Given the description of an element on the screen output the (x, y) to click on. 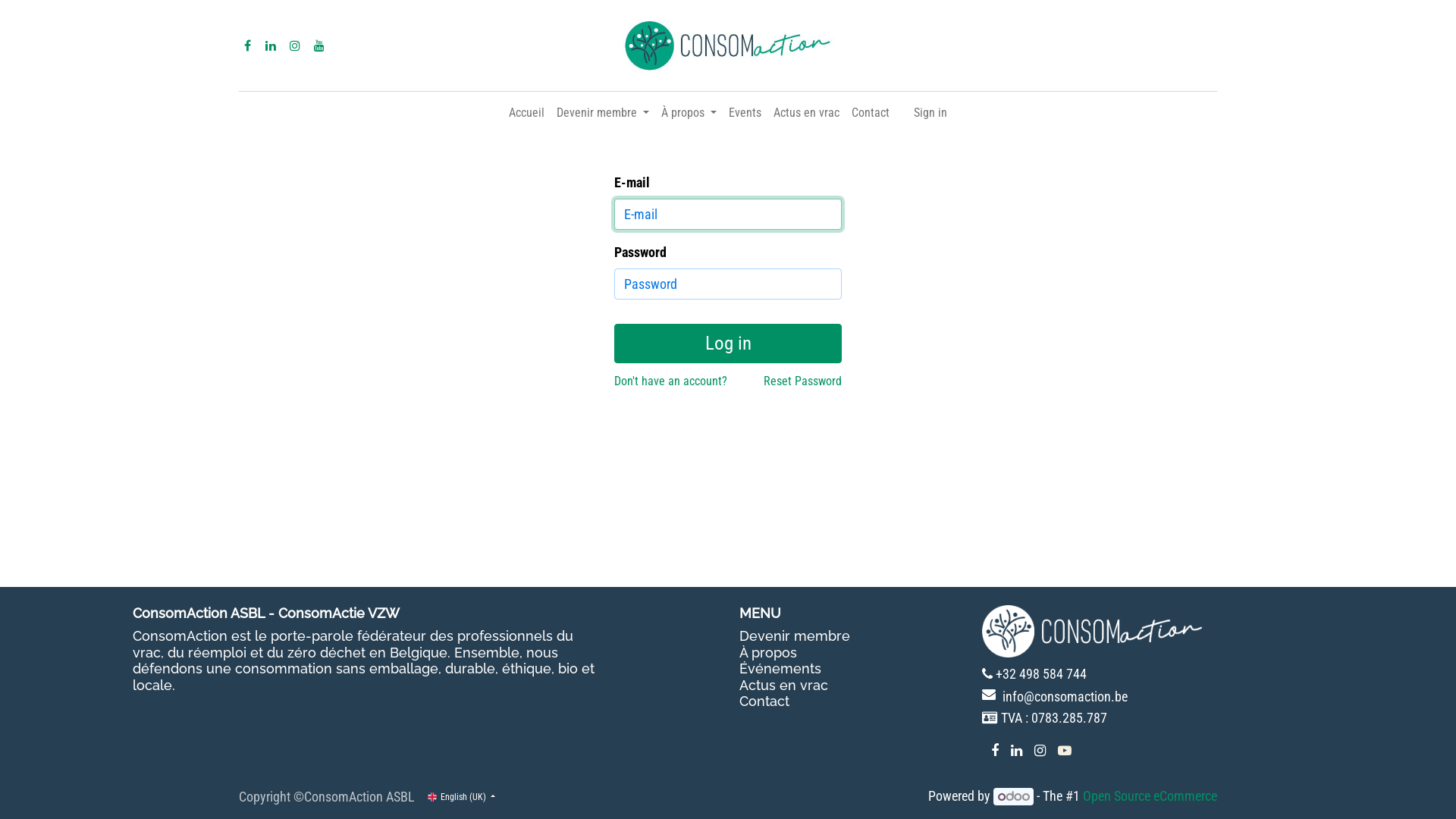
Devenir membre Element type: text (794, 635)
Accueil Element type: text (526, 112)
Don't have an account? Element type: text (670, 380)
Actus en vrac Element type: text (806, 112)
Events Element type: text (744, 112)
Devenir membre Element type: text (602, 112)
Reset Password Element type: text (802, 380)
Open Source eCommerce Element type: text (1149, 795)
info@consomaction.be Element type: text (1064, 696)
Contact Element type: text (764, 701)
Sign in Element type: text (930, 112)
English (UK) Element type: text (460, 796)
Actus en vrac Element type: text (783, 685)
Contact Element type: text (870, 112)
Log in Element type: text (727, 343)
ConsomAction Element type: hover (727, 45)
